Given the description of an element on the screen output the (x, y) to click on. 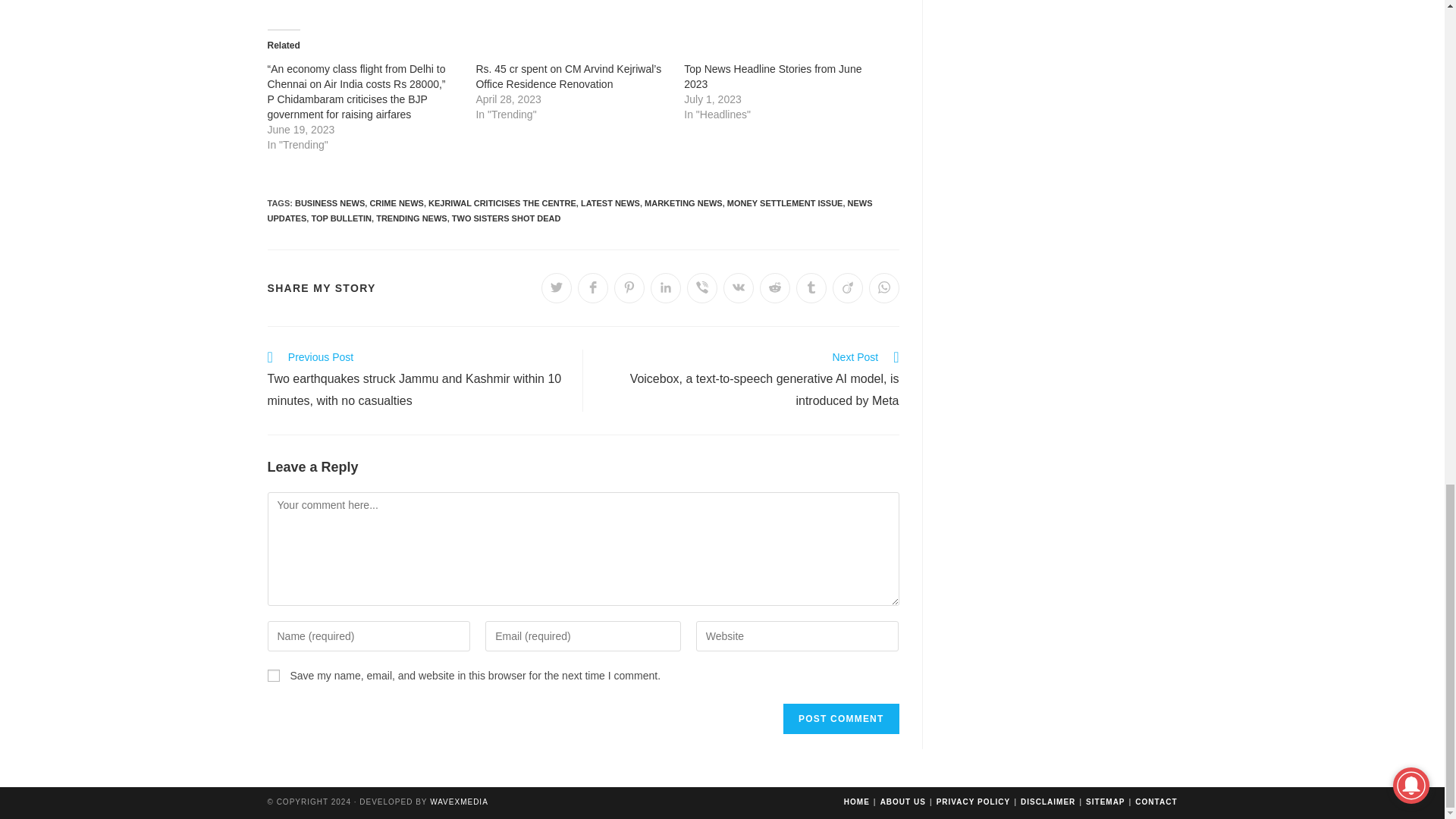
Top News Headline Stories from June 2023 (772, 76)
Post Comment (840, 718)
yes (272, 675)
